Given the description of an element on the screen output the (x, y) to click on. 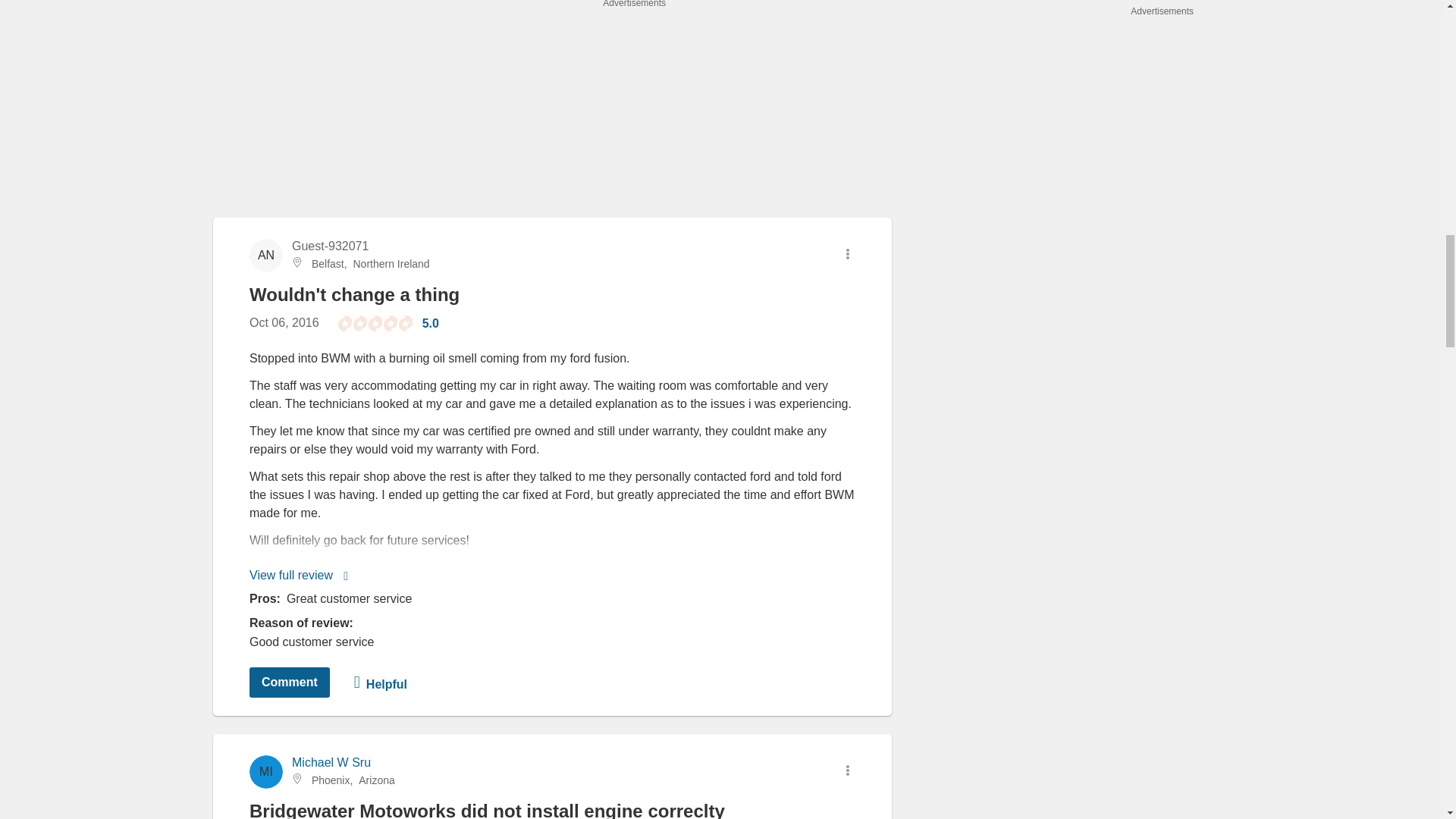
Michael W Sru - Profile Info (330, 762)
Michael W Sru (330, 762)
